Given the description of an element on the screen output the (x, y) to click on. 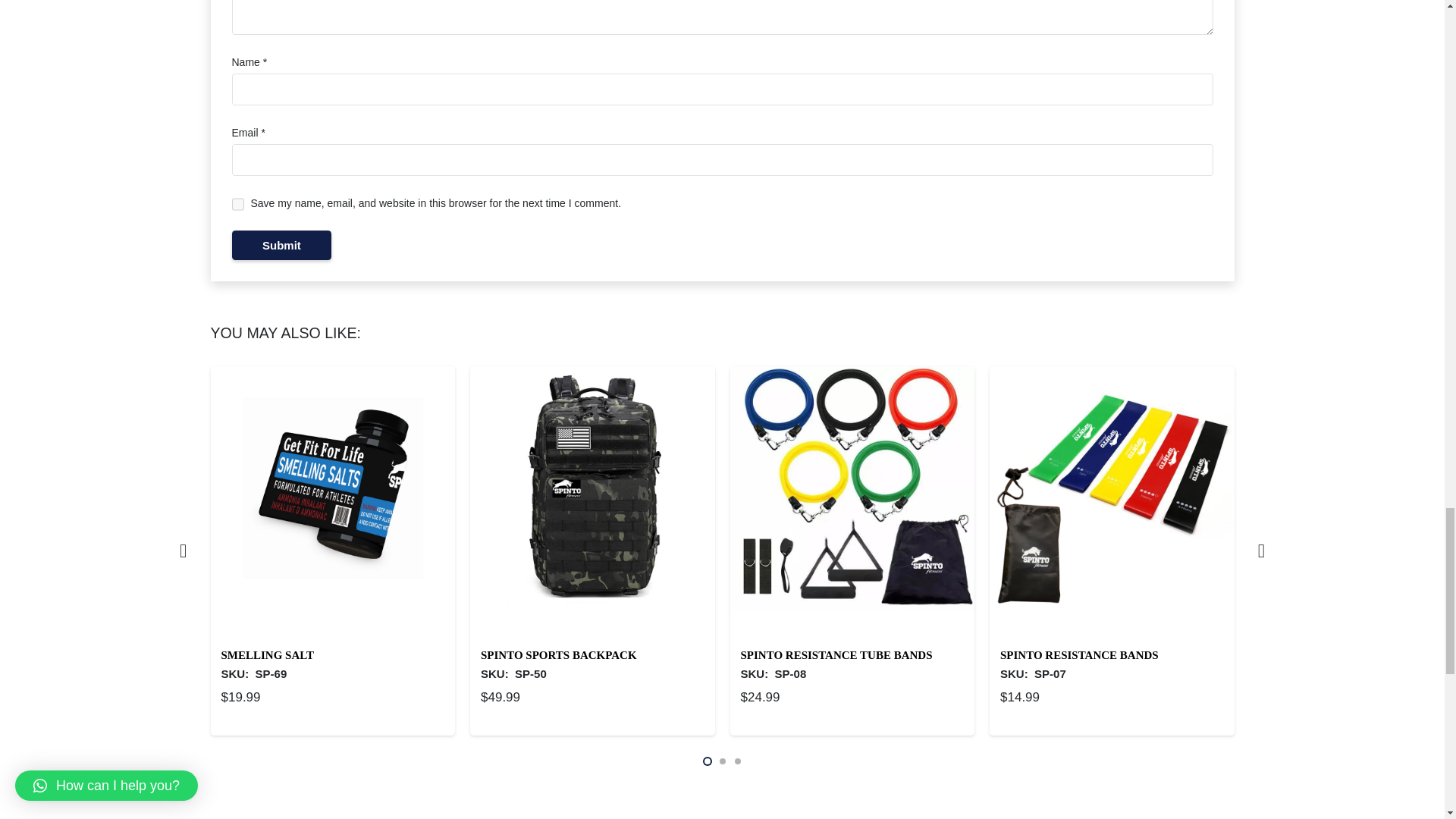
Submit (281, 245)
yes (237, 204)
